Given the description of an element on the screen output the (x, y) to click on. 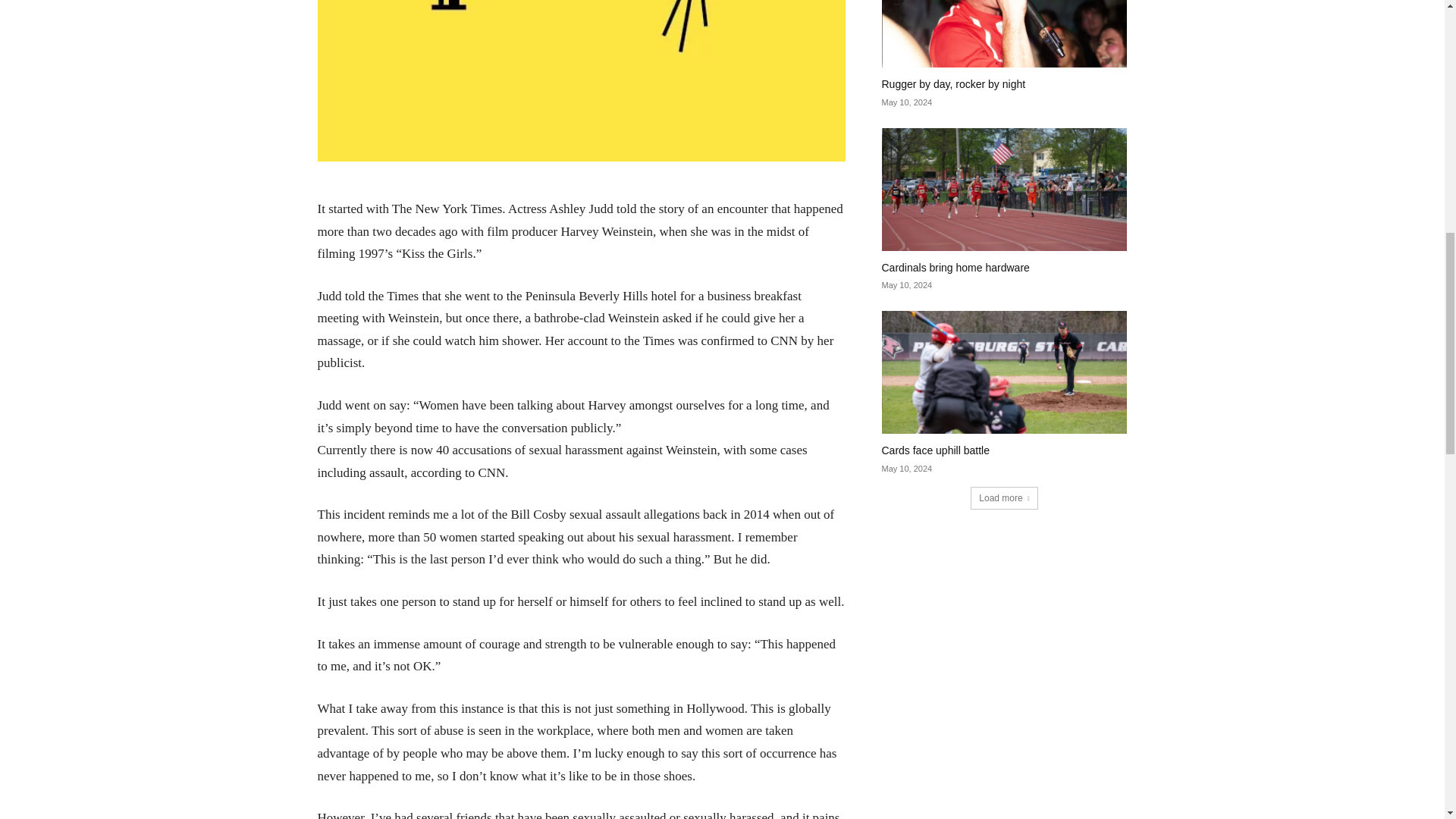
Opinion Icon (580, 80)
